Given the description of an element on the screen output the (x, y) to click on. 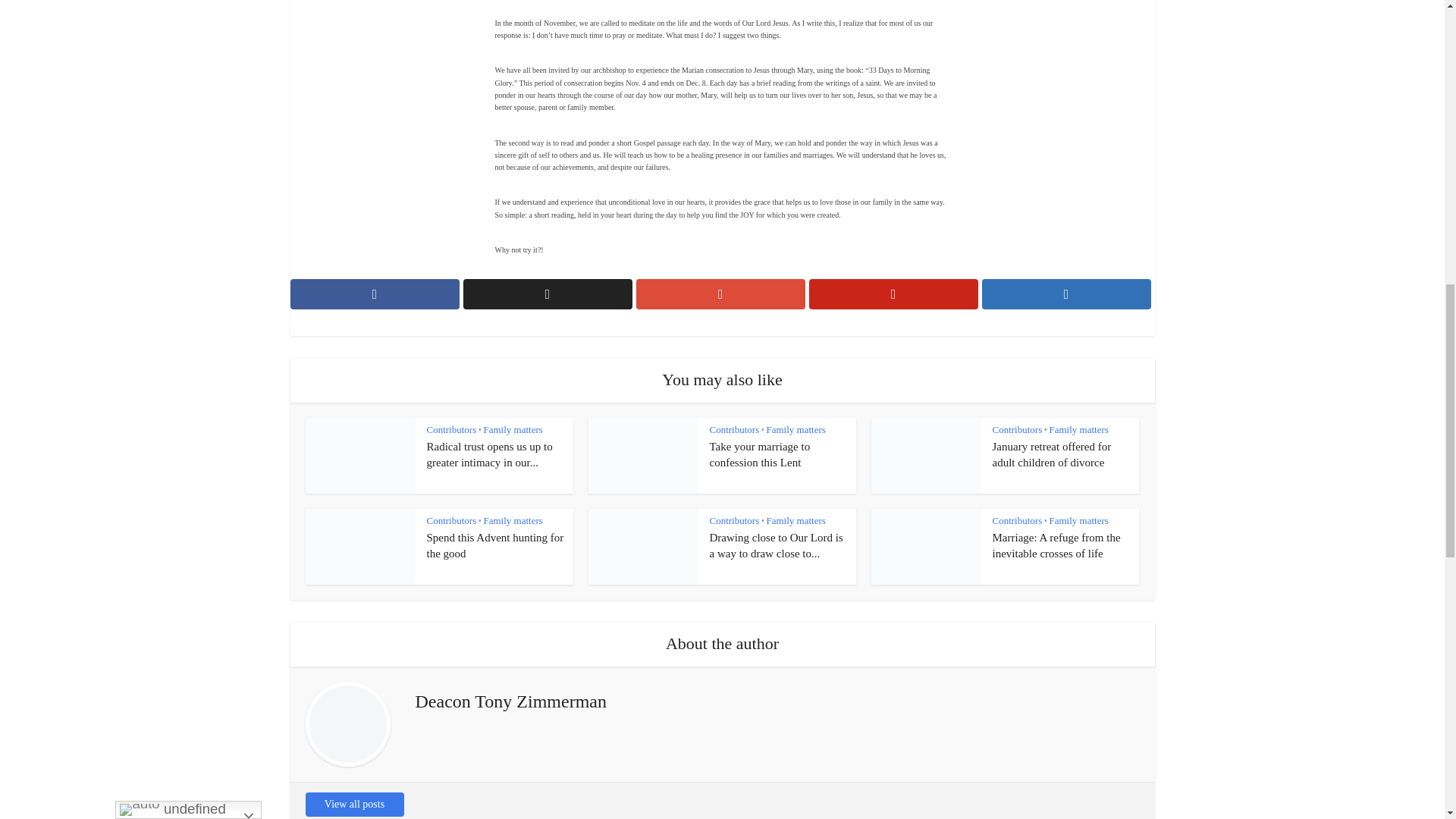
Page 8 (722, 128)
Page 8 (722, 226)
Page 8 (722, 197)
Page 8 (722, 160)
January retreat offered for adult children of divorce (1050, 453)
Page 8 (722, 128)
Take your marriage to confession this Lent (760, 453)
